Given the description of an element on the screen output the (x, y) to click on. 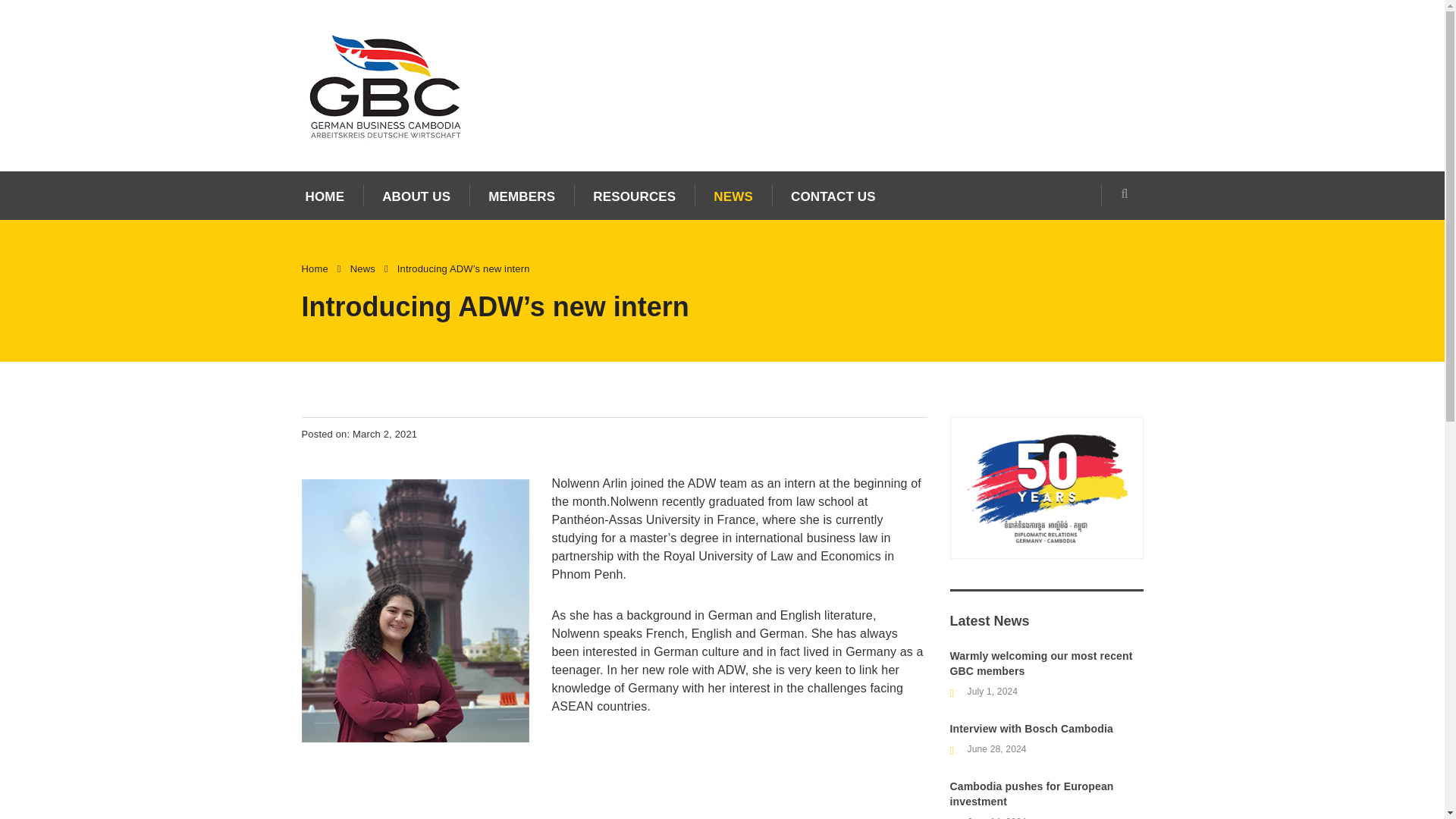
Warmly welcoming our most recent GBC members (1045, 663)
MEMBERS (520, 195)
Home (315, 268)
News (362, 268)
ABOUT US (415, 195)
RESOURCES (633, 195)
HOME (325, 195)
NEWS (732, 195)
Go to the News category archives. (362, 268)
Go to ADW - German Business Cambodia. (315, 268)
